Given the description of an element on the screen output the (x, y) to click on. 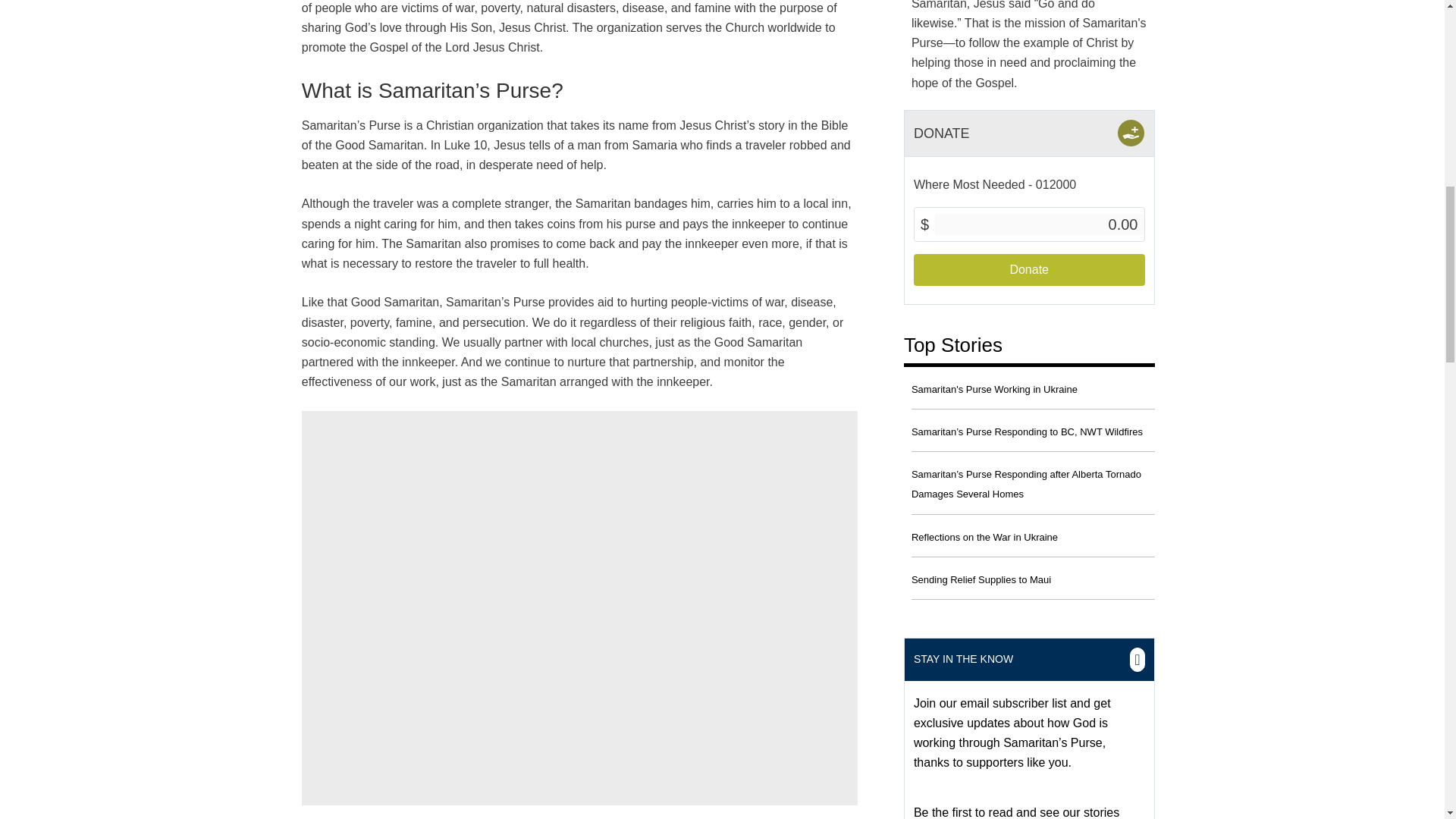
0.00 (1038, 224)
